Given the description of an element on the screen output the (x, y) to click on. 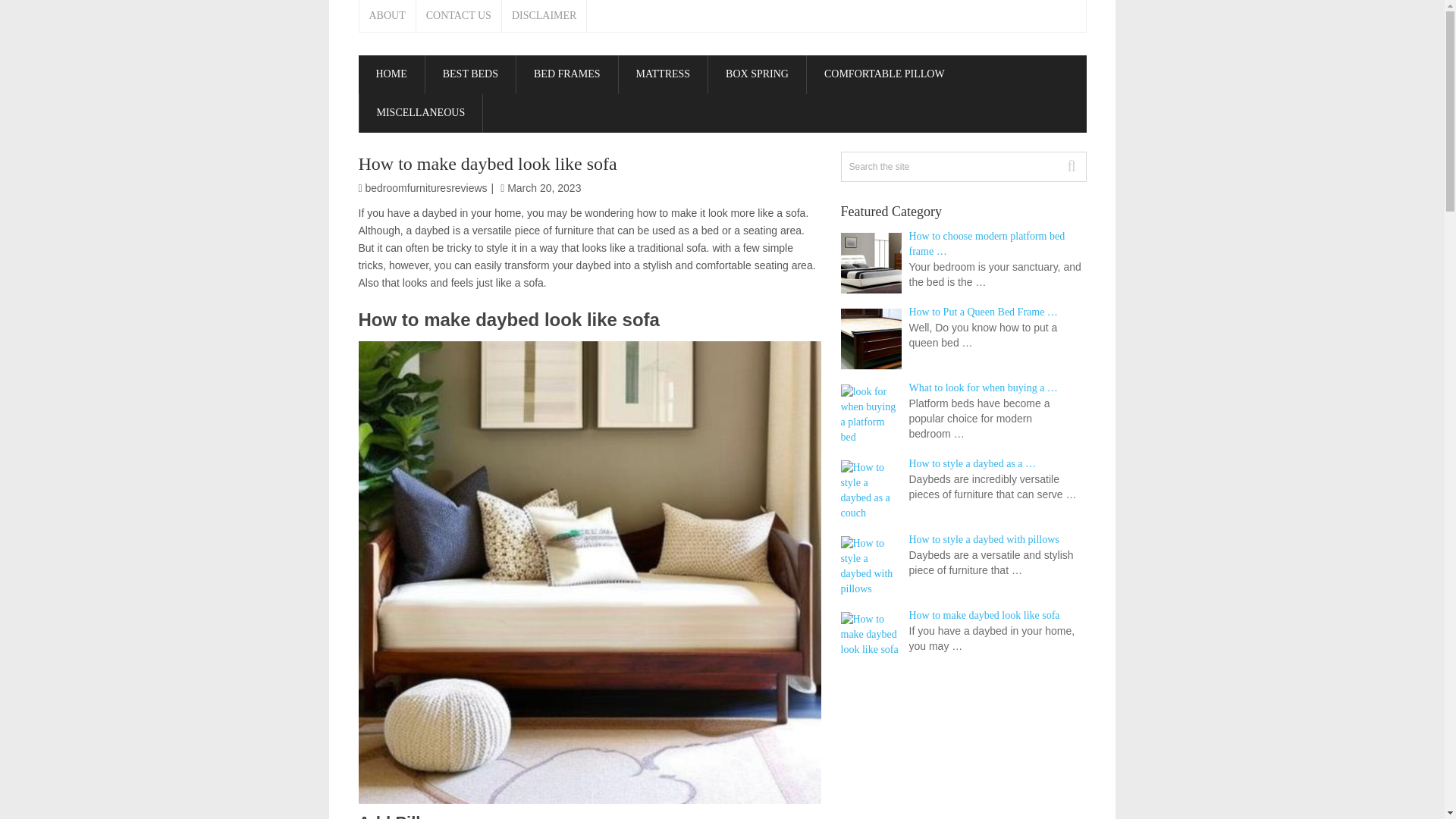
BED FRAMES (566, 74)
DISCLAIMER (545, 15)
MATTRESS (662, 74)
ABOUT (387, 15)
MISCELLANEOUS (421, 113)
What to look for when buying a platform bed? (963, 387)
COMFORTABLE PILLOW (884, 74)
How to style a daybed with pillows (963, 539)
CONTACT US (459, 15)
How to make daybed look like sofa (963, 615)
How to style a daybed as a couch (963, 463)
HOME (390, 74)
Posts by bedroomfurnituresreviews (426, 187)
How to Put a Queen Bed Frame Together (963, 312)
